Given the description of an element on the screen output the (x, y) to click on. 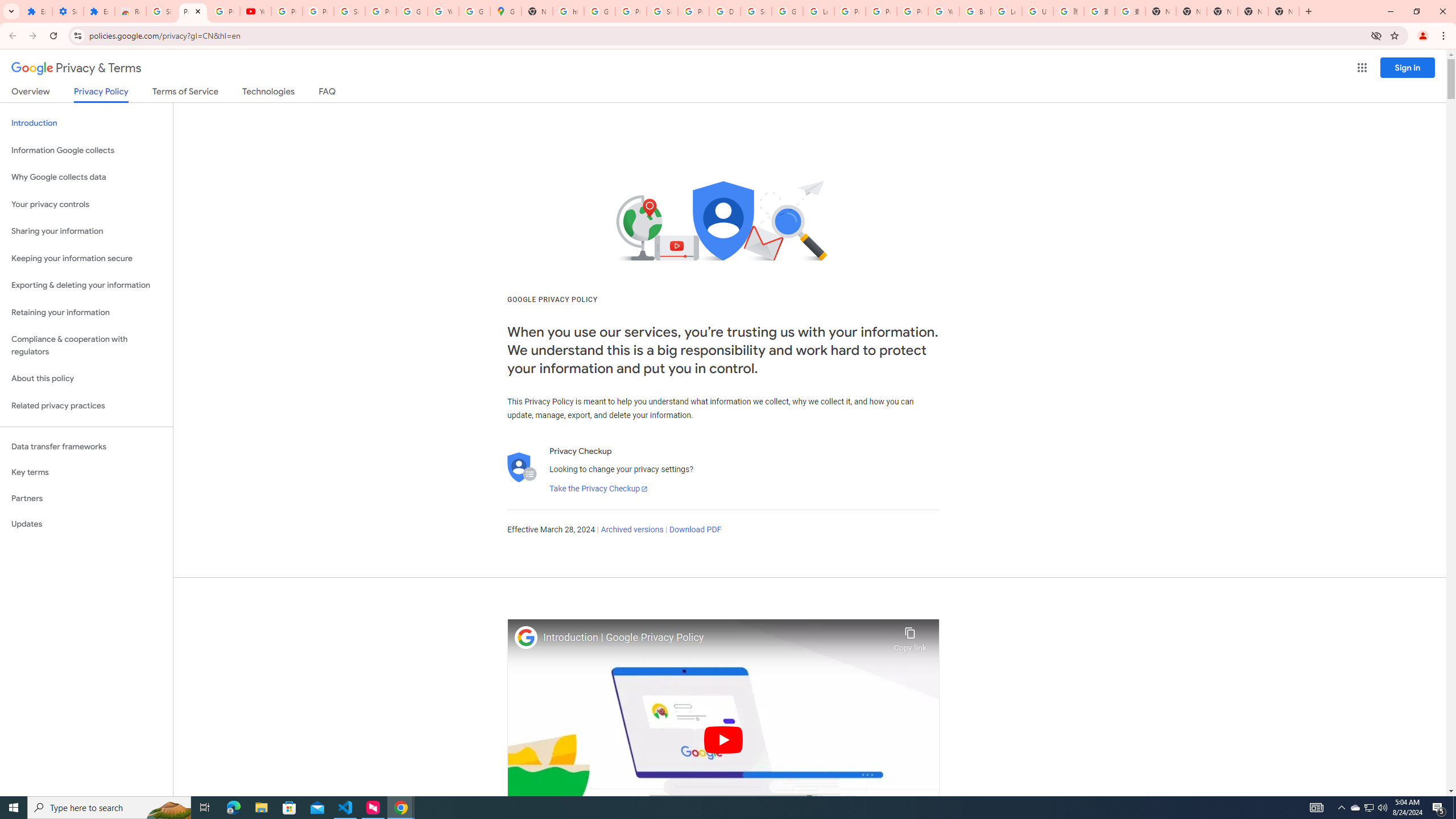
Google Account (411, 11)
New Tab (1283, 11)
Introduction | Google Privacy Policy (715, 637)
Play (723, 739)
Privacy Help Center - Policies Help (881, 11)
Data transfer frameworks (86, 446)
Photo image of Google (526, 636)
